Given the description of an element on the screen output the (x, y) to click on. 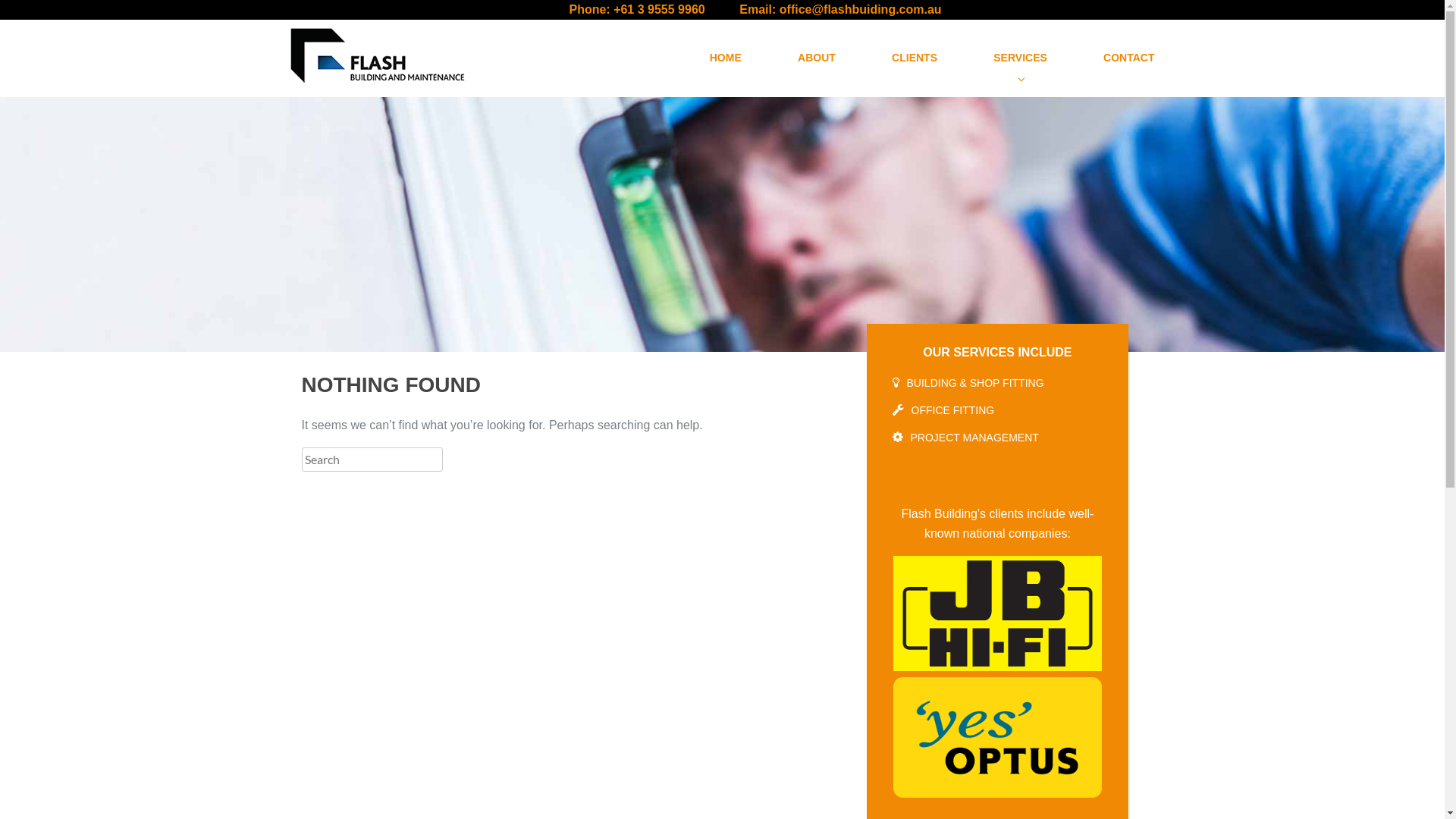
PROJECT MANAGEMENT Element type: text (974, 434)
SERVICES Element type: text (992, 58)
ABOUT Element type: text (788, 58)
HOME Element type: text (696, 58)
OFFICE FITTING Element type: text (952, 407)
+61 3 9555 9960 Element type: text (659, 9)
FLASH BUILDING Element type: text (382, 101)
CONTACT Element type: text (1100, 58)
BUILDING & SHOP FITTING Element type: text (975, 379)
office@flashbuiding.com.au Element type: text (860, 9)
Search for: Element type: hover (371, 459)
CLIENTS Element type: text (886, 58)
